Given the description of an element on the screen output the (x, y) to click on. 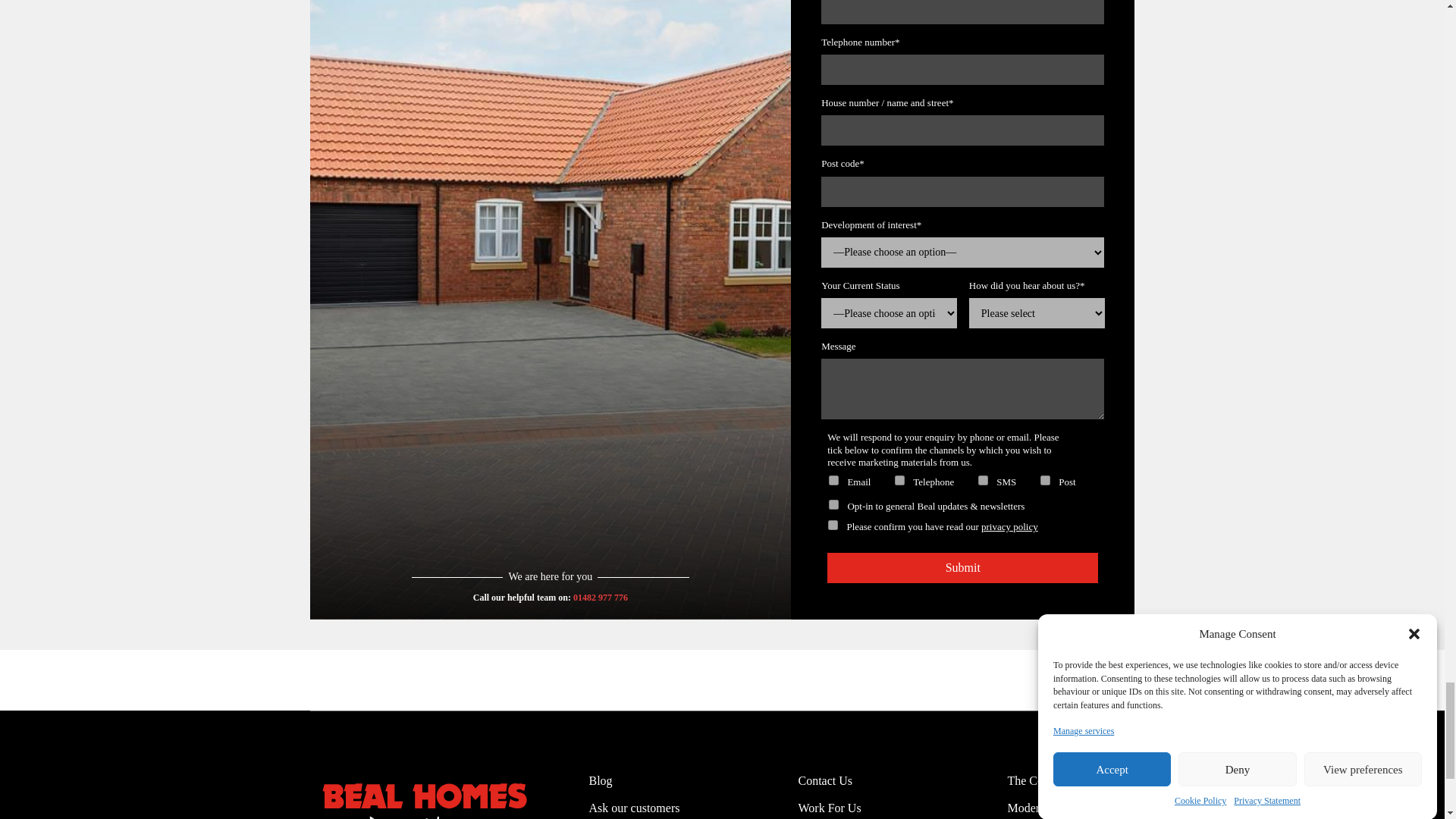
Post (1045, 480)
Submit (962, 567)
1 (833, 524)
Telephone (899, 480)
SMS (983, 480)
Email (833, 480)
